Given the description of an element on the screen output the (x, y) to click on. 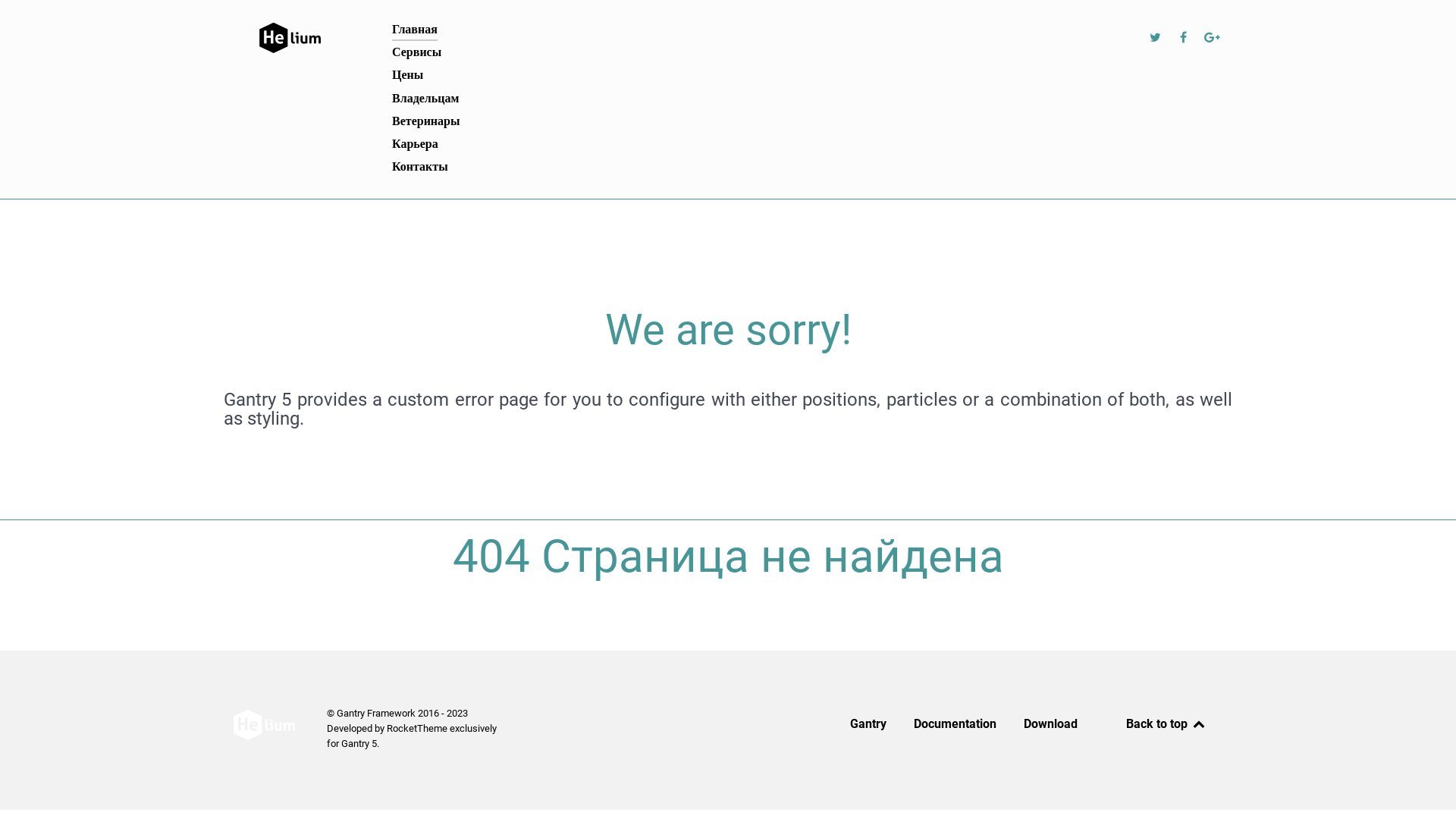
Download Element type: text (1050, 727)
Back to top Element type: text (1166, 723)
Documentation Element type: text (954, 727)
Gantry Element type: text (868, 727)
